Given the description of an element on the screen output the (x, y) to click on. 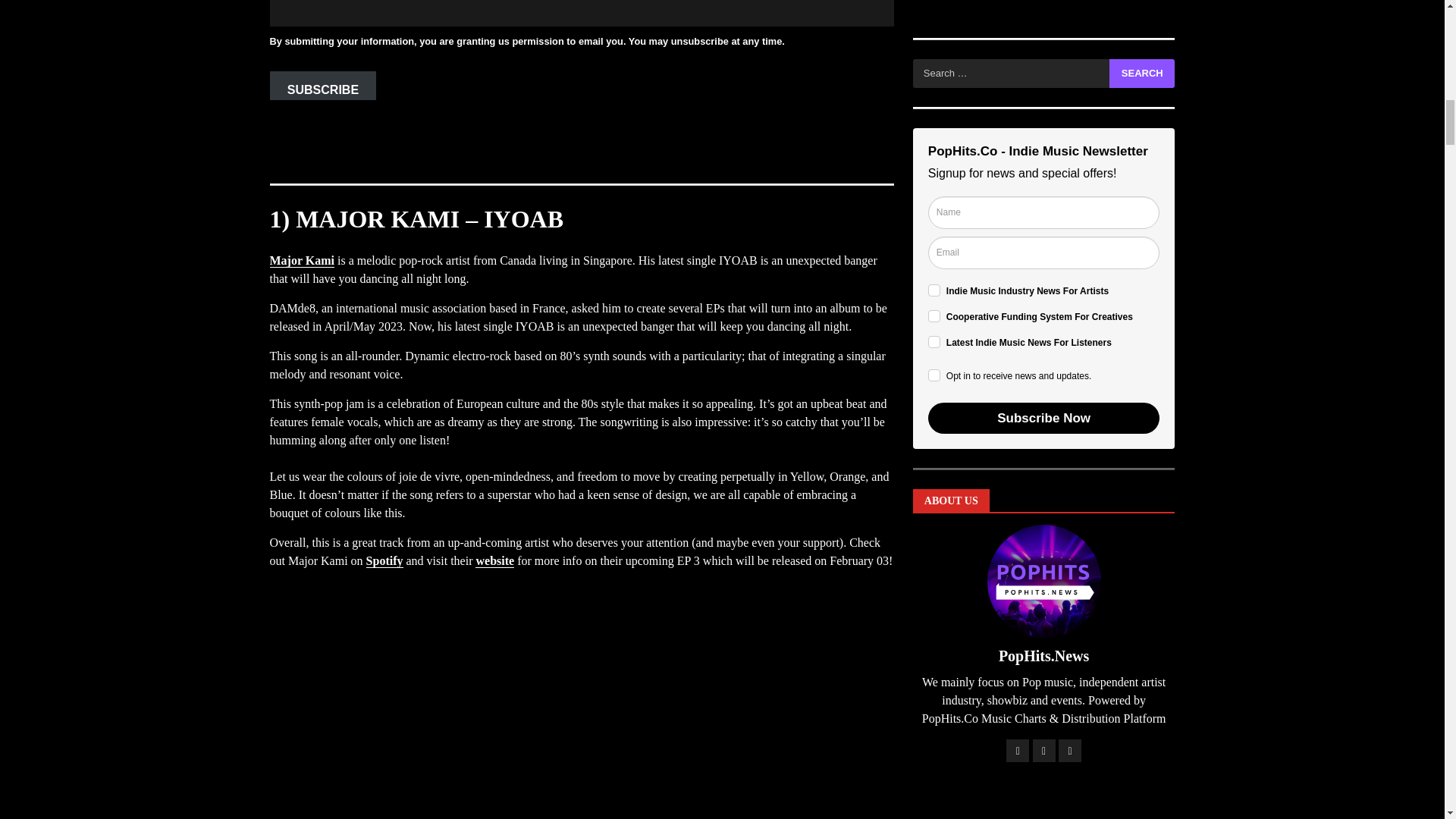
Spotify Embed: IYOAB (581, 715)
